Given the description of an element on the screen output the (x, y) to click on. 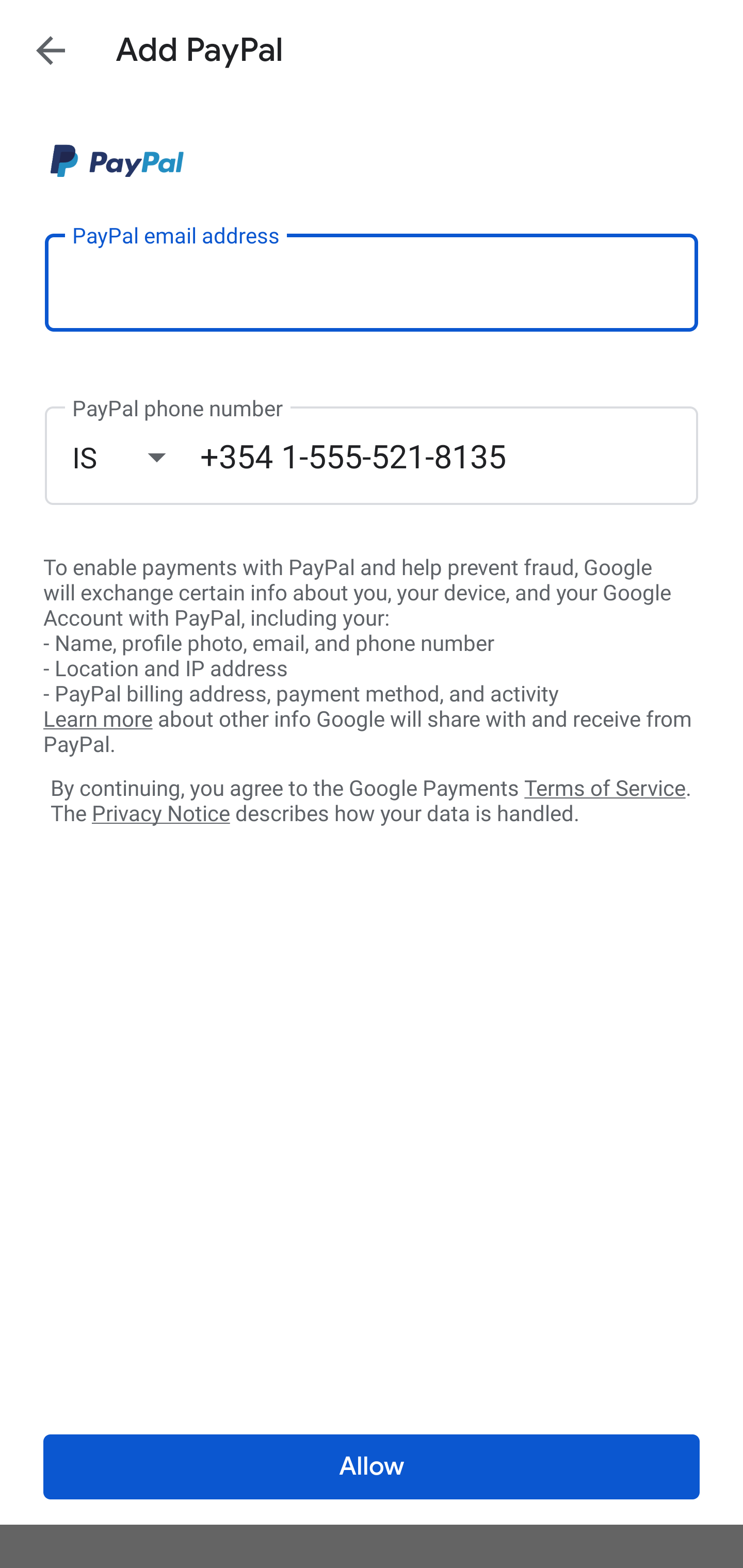
Navigate up (50, 50)
PayPal email address (371, 282)
IS (135, 456)
Learn more (97, 719)
Terms of Service (604, 787)
Privacy Notice (160, 814)
Allow (371, 1466)
